Given the description of an element on the screen output the (x, y) to click on. 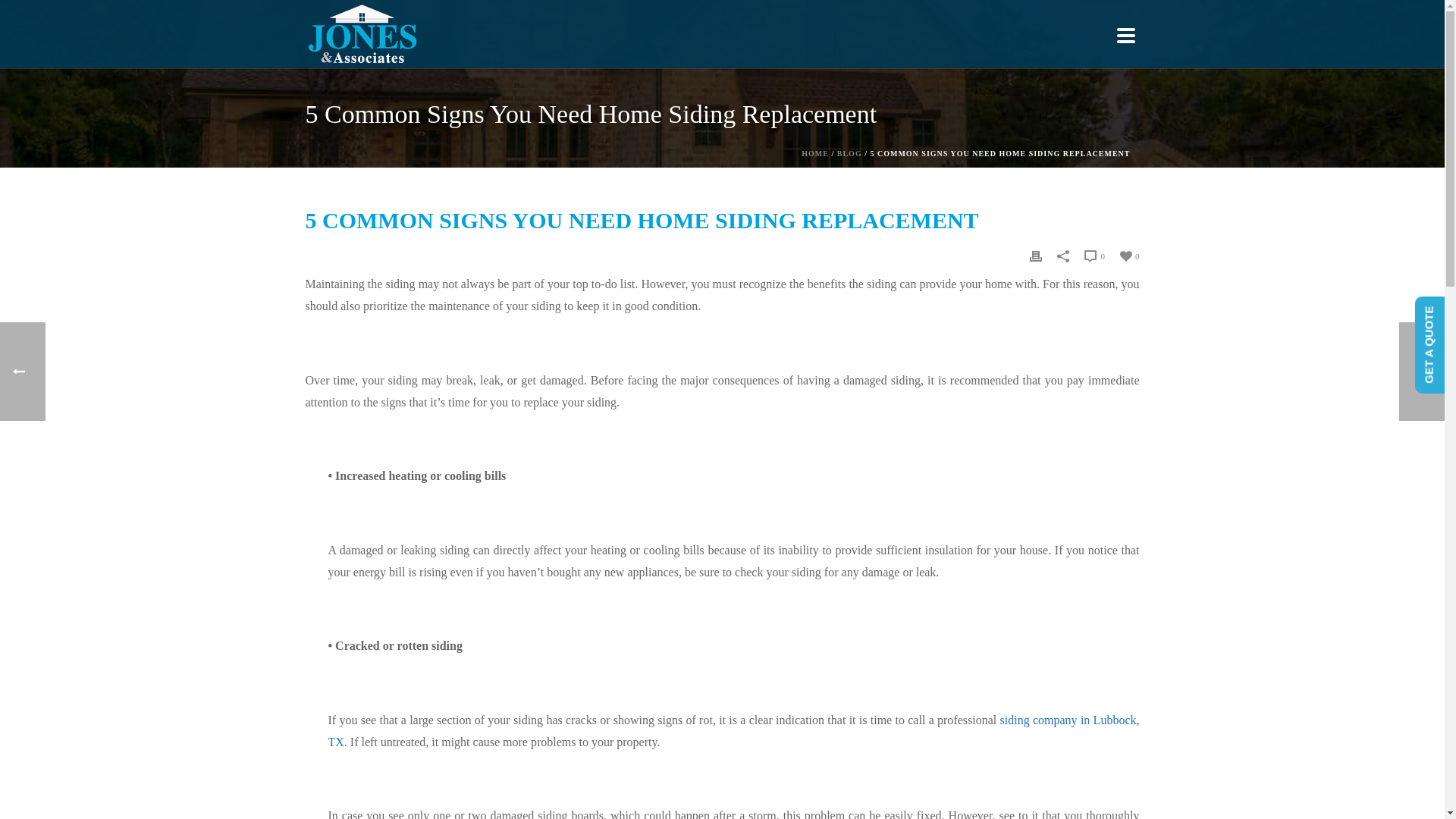
0 (1129, 254)
0 (1094, 255)
siding company in Lubbock, TX (732, 730)
HOME (815, 153)
BLOG (849, 153)
